Given the description of an element on the screen output the (x, y) to click on. 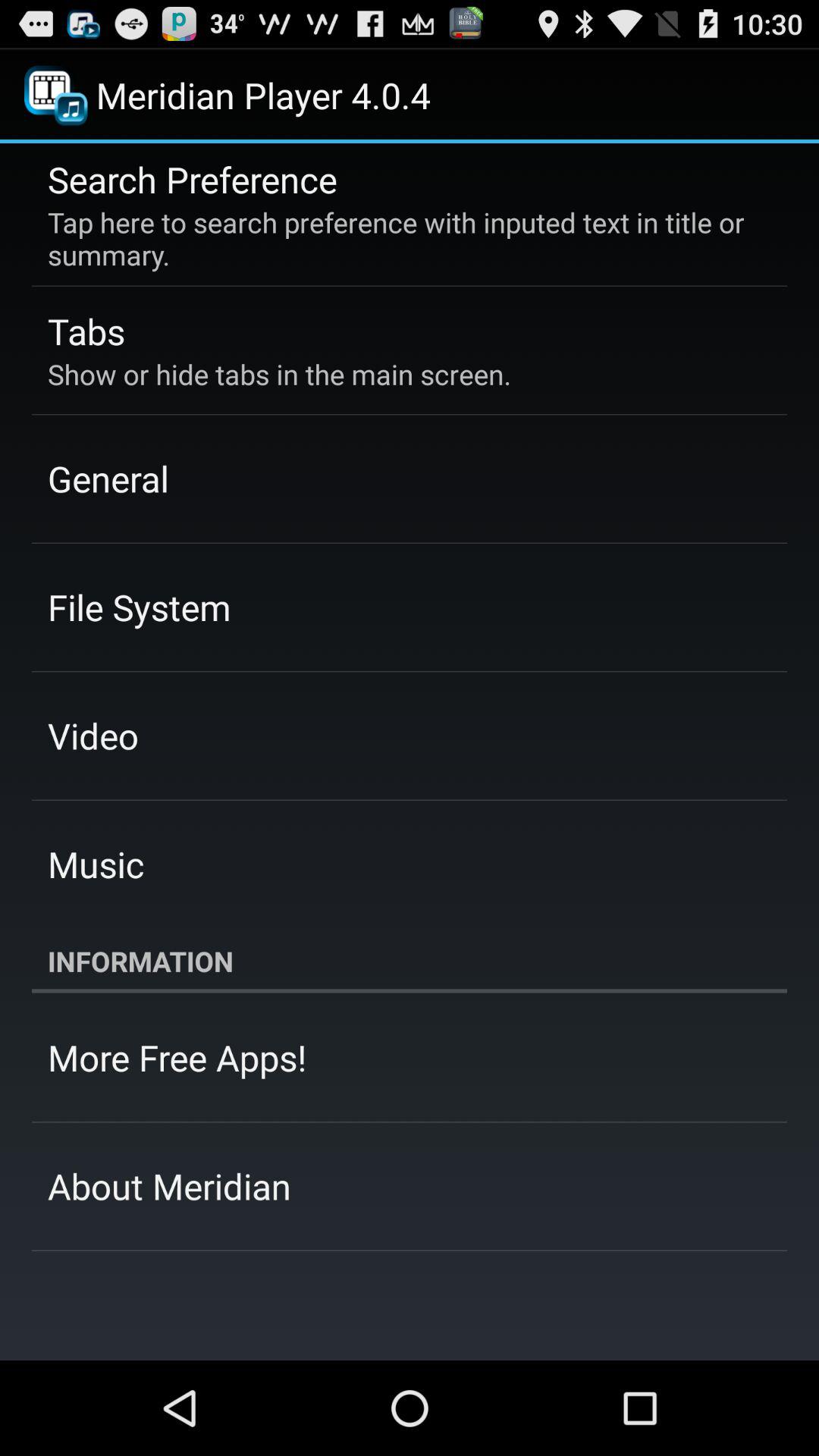
launch the item below the show or hide icon (107, 478)
